Given the description of an element on the screen output the (x, y) to click on. 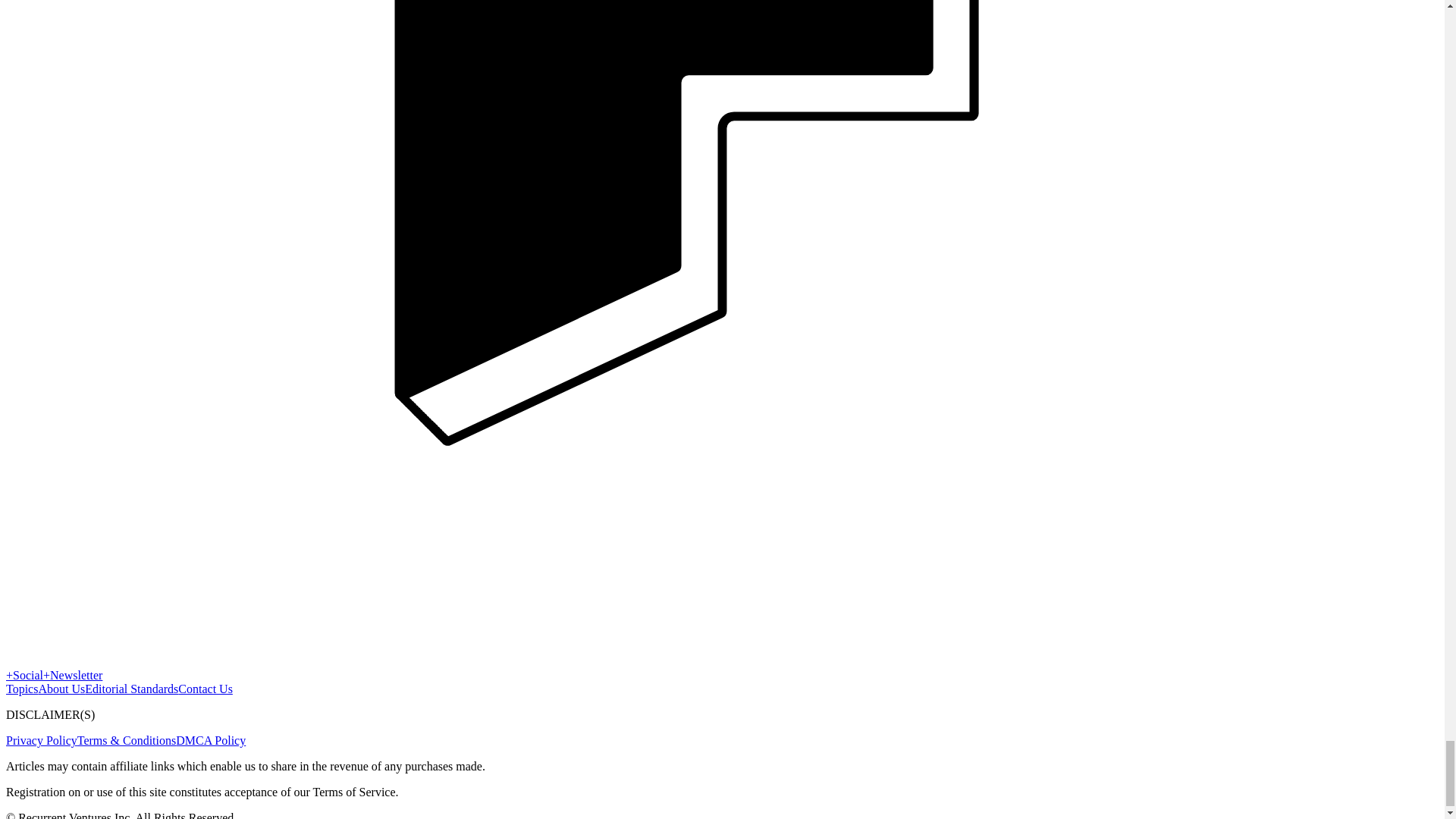
Privacy Policy (41, 739)
About Us (60, 688)
DMCA Policy (211, 739)
Editorial Standards (130, 688)
Topics (21, 688)
Contact Us (204, 688)
